Given the description of an element on the screen output the (x, y) to click on. 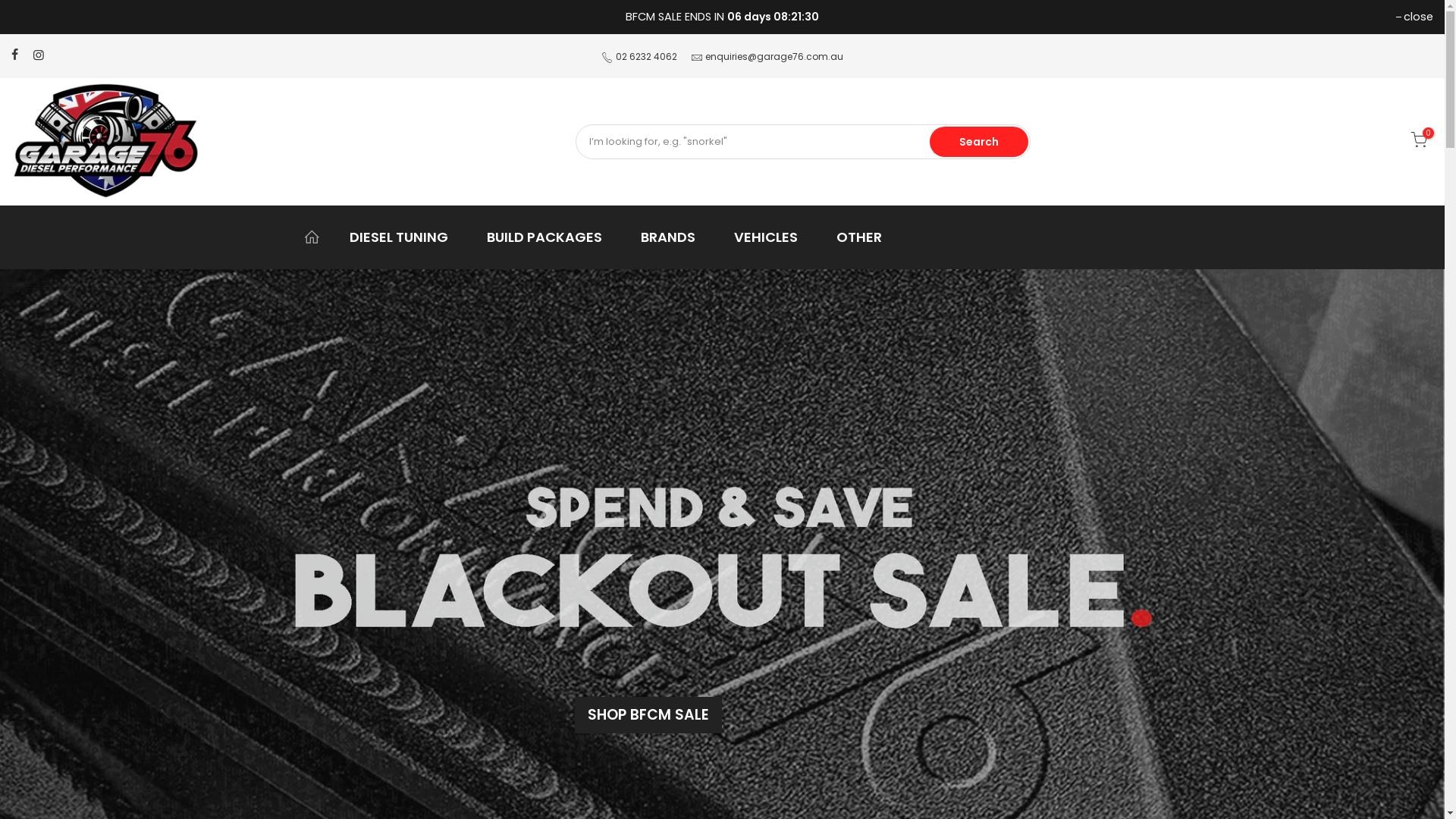
enquiries@garage76.com.au Element type: text (774, 56)
SHOP BFCM SALE Element type: text (647, 714)
BRANDS Element type: text (674, 237)
OTHER Element type: text (865, 237)
0 Element type: text (1418, 142)
Search Element type: text (978, 141)
BUILD PACKAGES Element type: text (550, 237)
02 6232 4062 Element type: text (646, 56)
close Element type: text (1414, 16)
VEHICLES Element type: text (771, 237)
DIESEL TUNING Element type: text (404, 237)
